Given the description of an element on the screen output the (x, y) to click on. 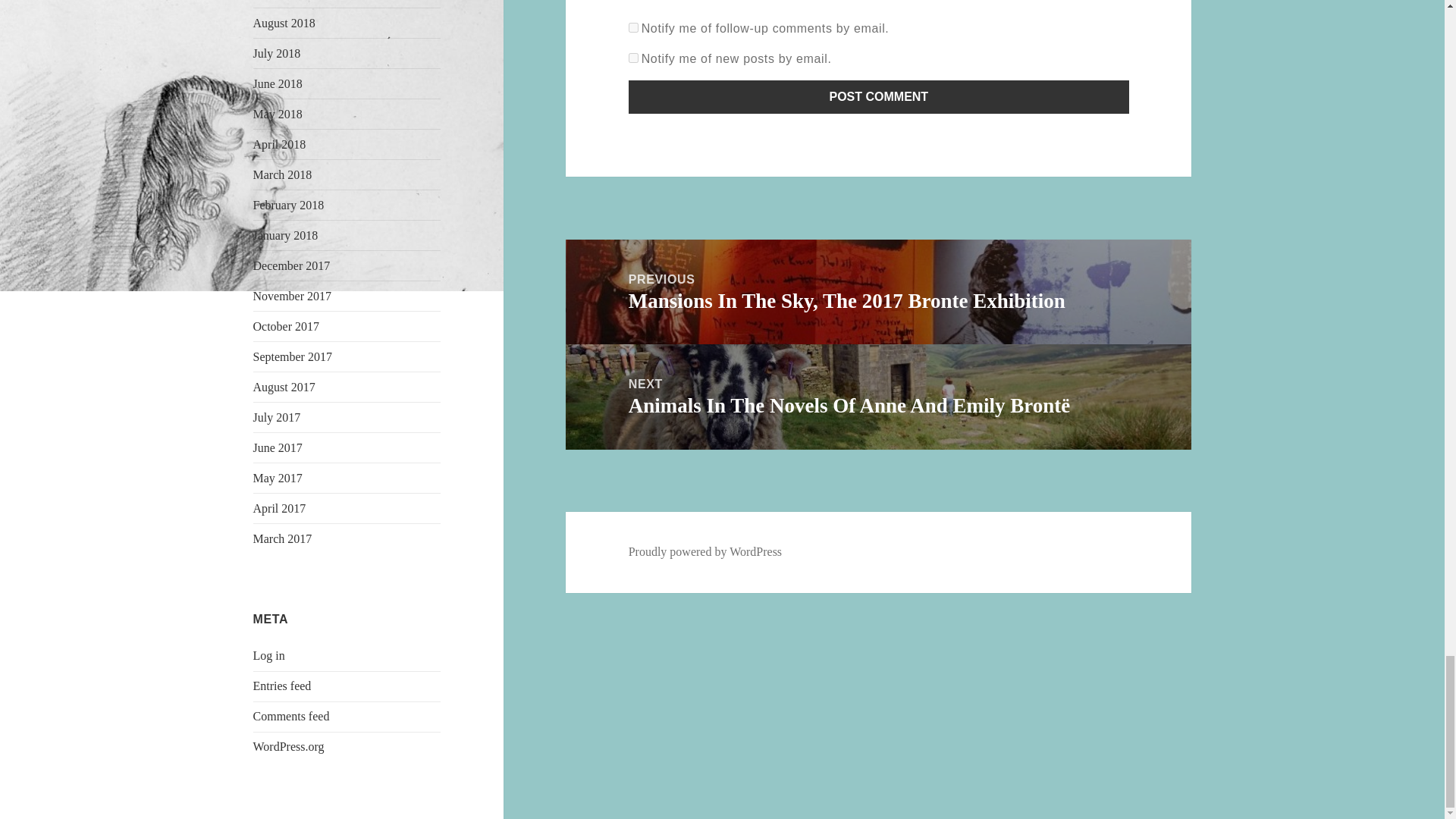
subscribe (633, 58)
Post Comment (878, 96)
subscribe (633, 27)
